Given the description of an element on the screen output the (x, y) to click on. 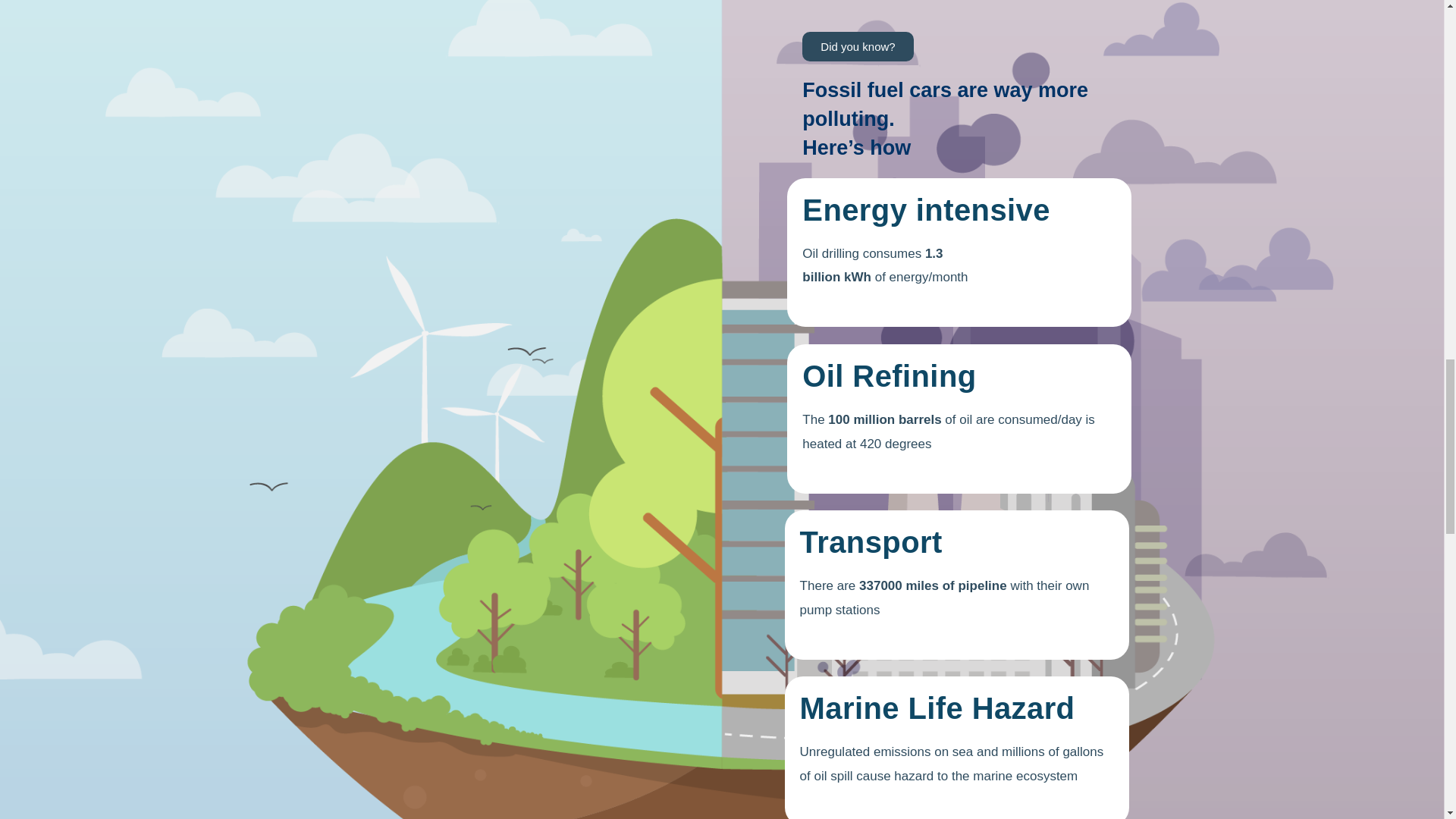
Did you know? (857, 46)
